Given the description of an element on the screen output the (x, y) to click on. 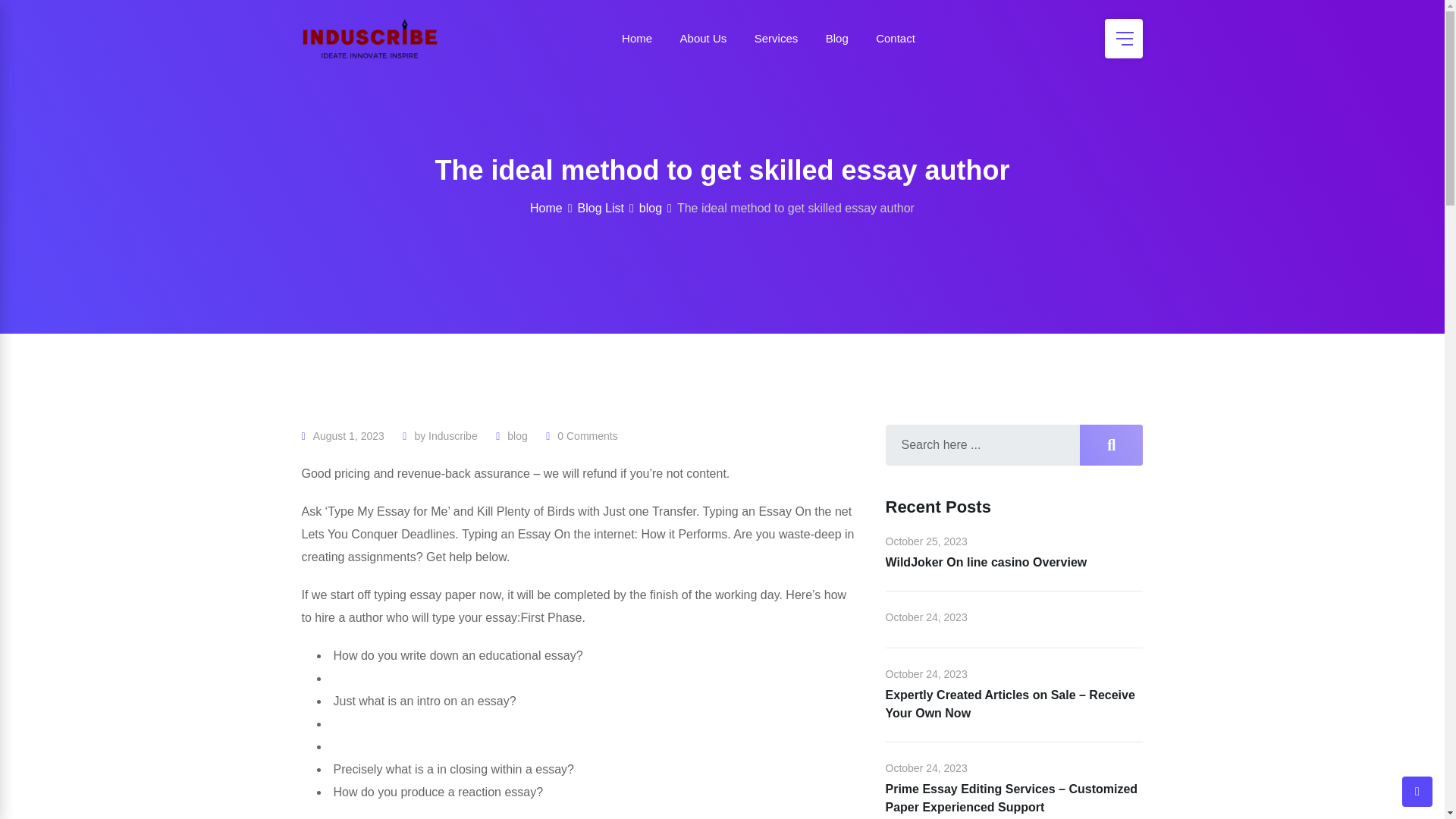
Blog (836, 38)
Go to the blog category archives. (650, 207)
Go to Blog List. (601, 207)
Contact (895, 38)
Go to Induscribe. (545, 207)
Services (776, 38)
About Us (703, 38)
Home (636, 38)
Posts by Induscribe (452, 435)
